Given the description of an element on the screen output the (x, y) to click on. 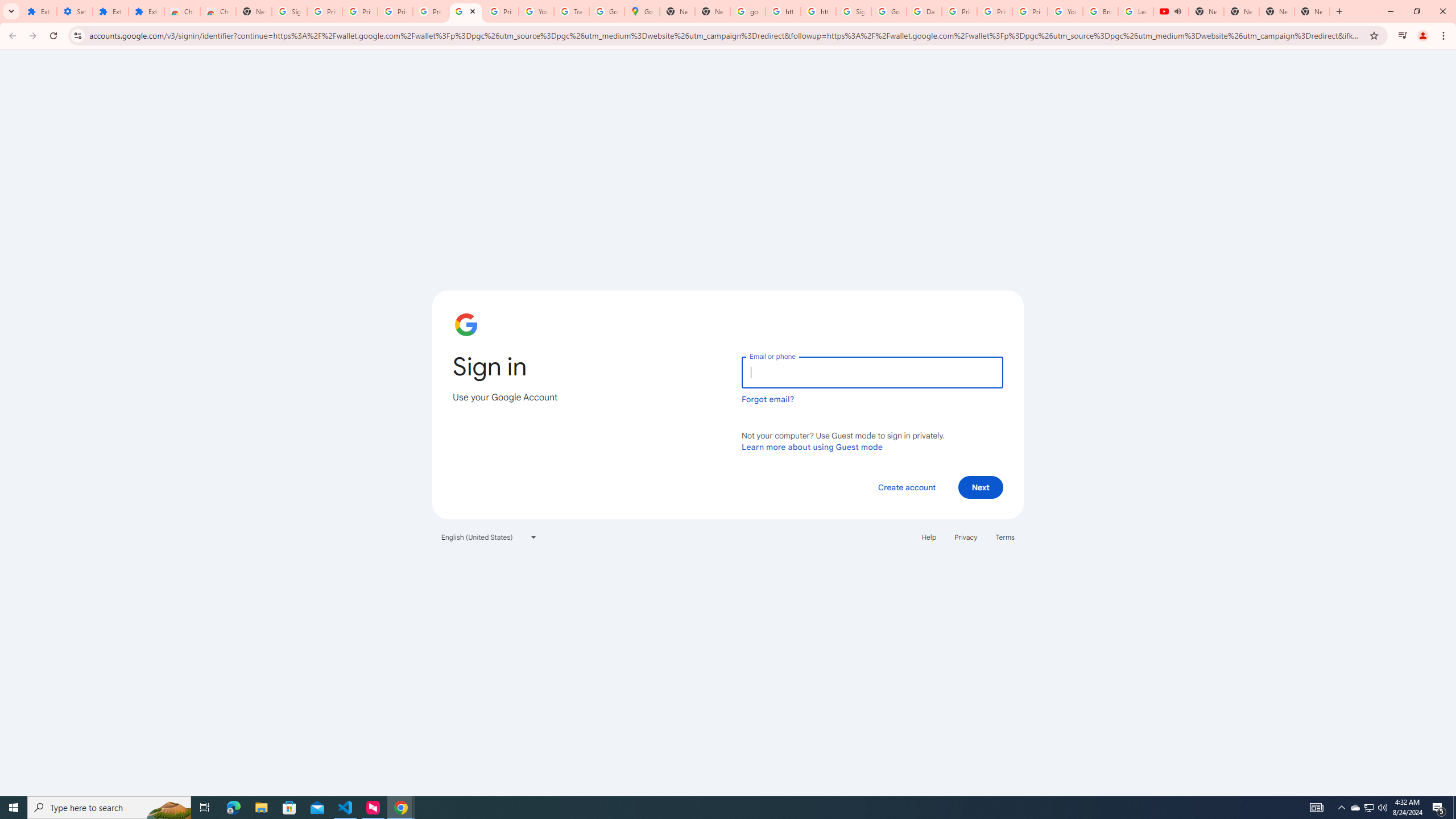
Sign in - Google Accounts (465, 11)
Forgot email? (767, 398)
https://scholar.google.com/ (817, 11)
Extensions (39, 11)
https://scholar.google.com/ (783, 11)
Chrome Web Store - Themes (218, 11)
